Given the description of an element on the screen output the (x, y) to click on. 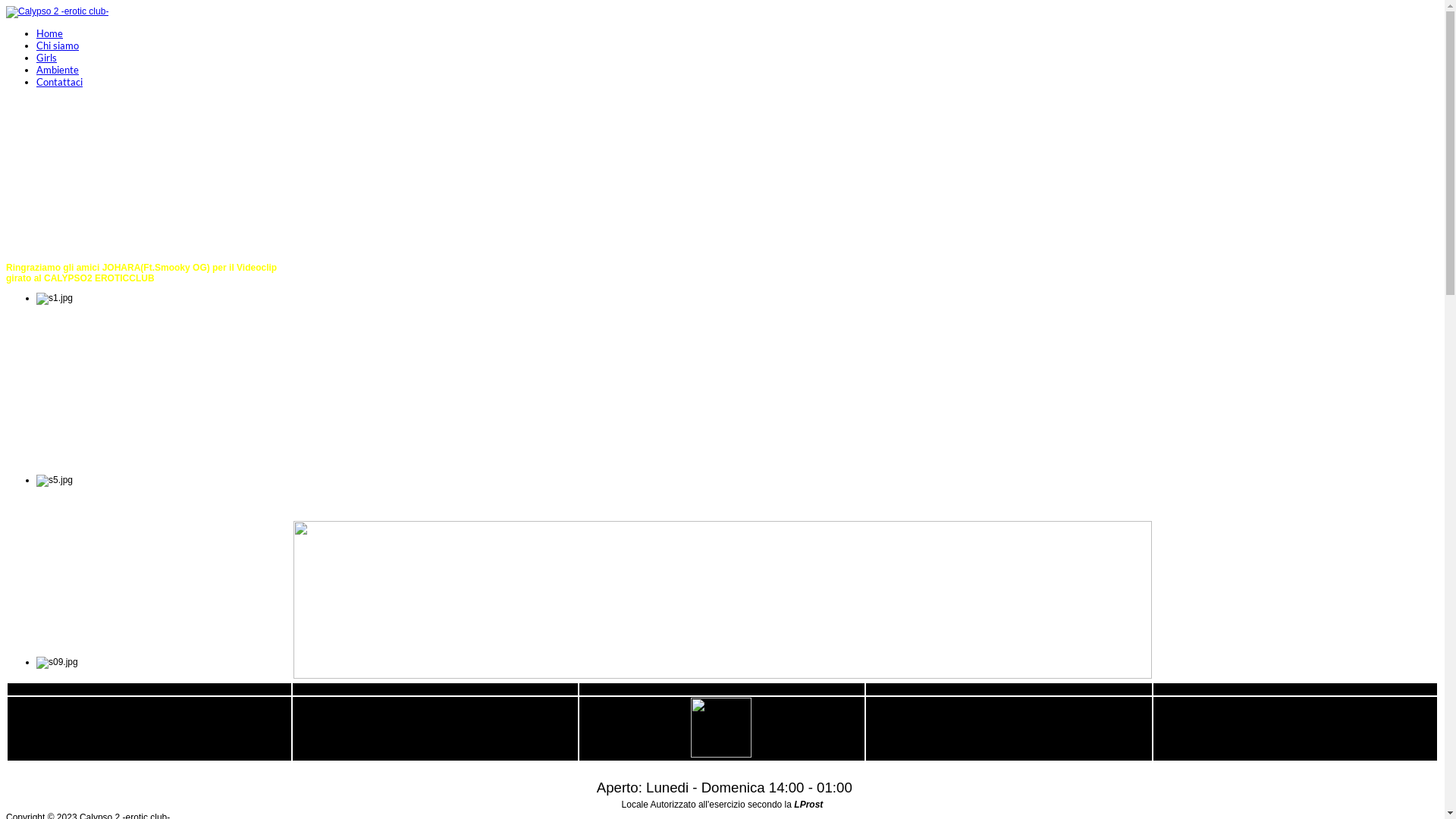
YouTube video player Element type: hover (142, 178)
Ambiente Element type: text (57, 69)
Chi siamo Element type: text (57, 45)
Girls Element type: text (46, 57)
Home Element type: text (49, 33)
Contattaci Element type: text (59, 81)
